Given the description of an element on the screen output the (x, y) to click on. 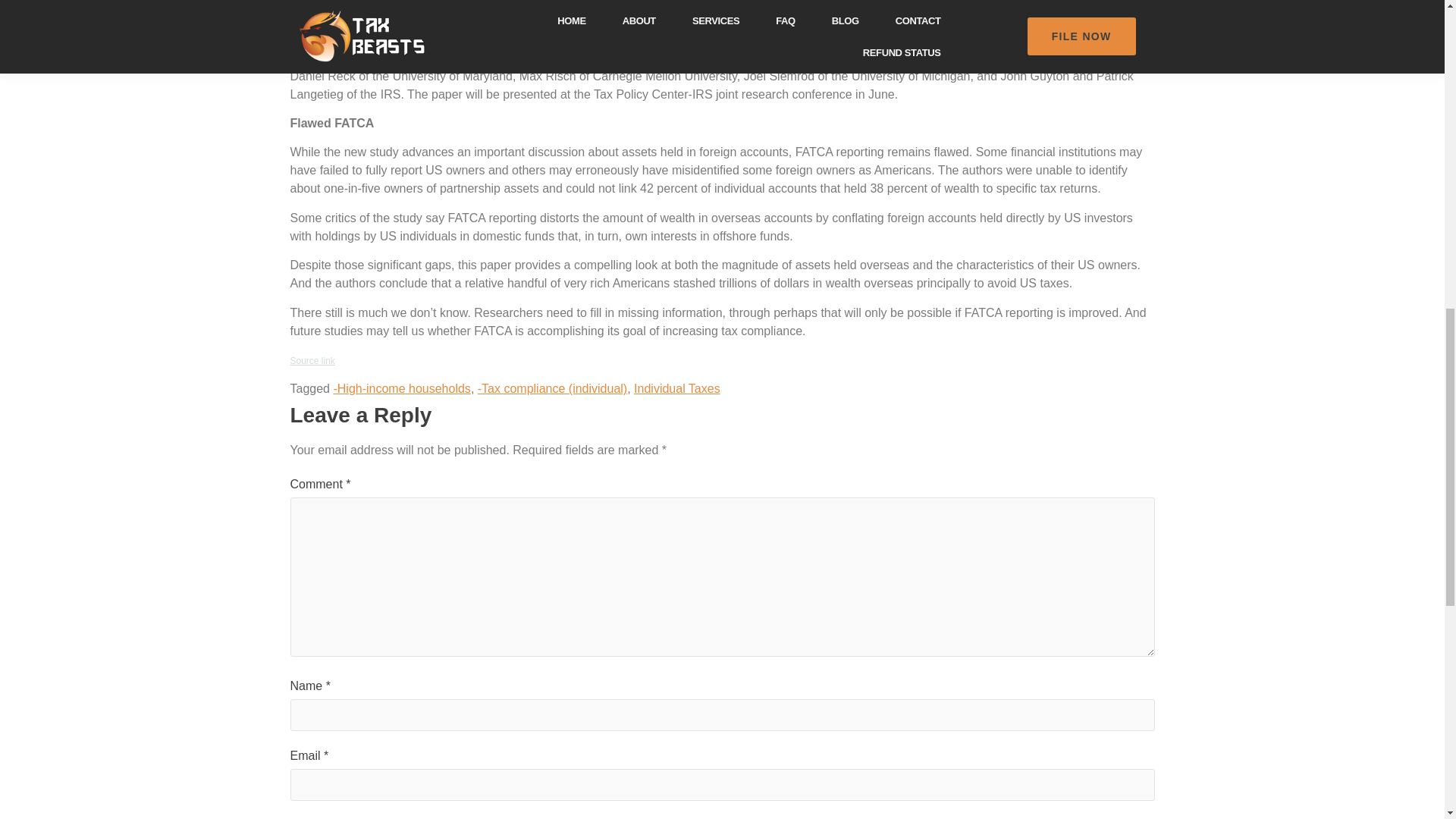
here (820, 10)
Individual Taxes (676, 388)
-High-income households (401, 388)
Source link (311, 360)
here (769, 10)
